Given the description of an element on the screen output the (x, y) to click on. 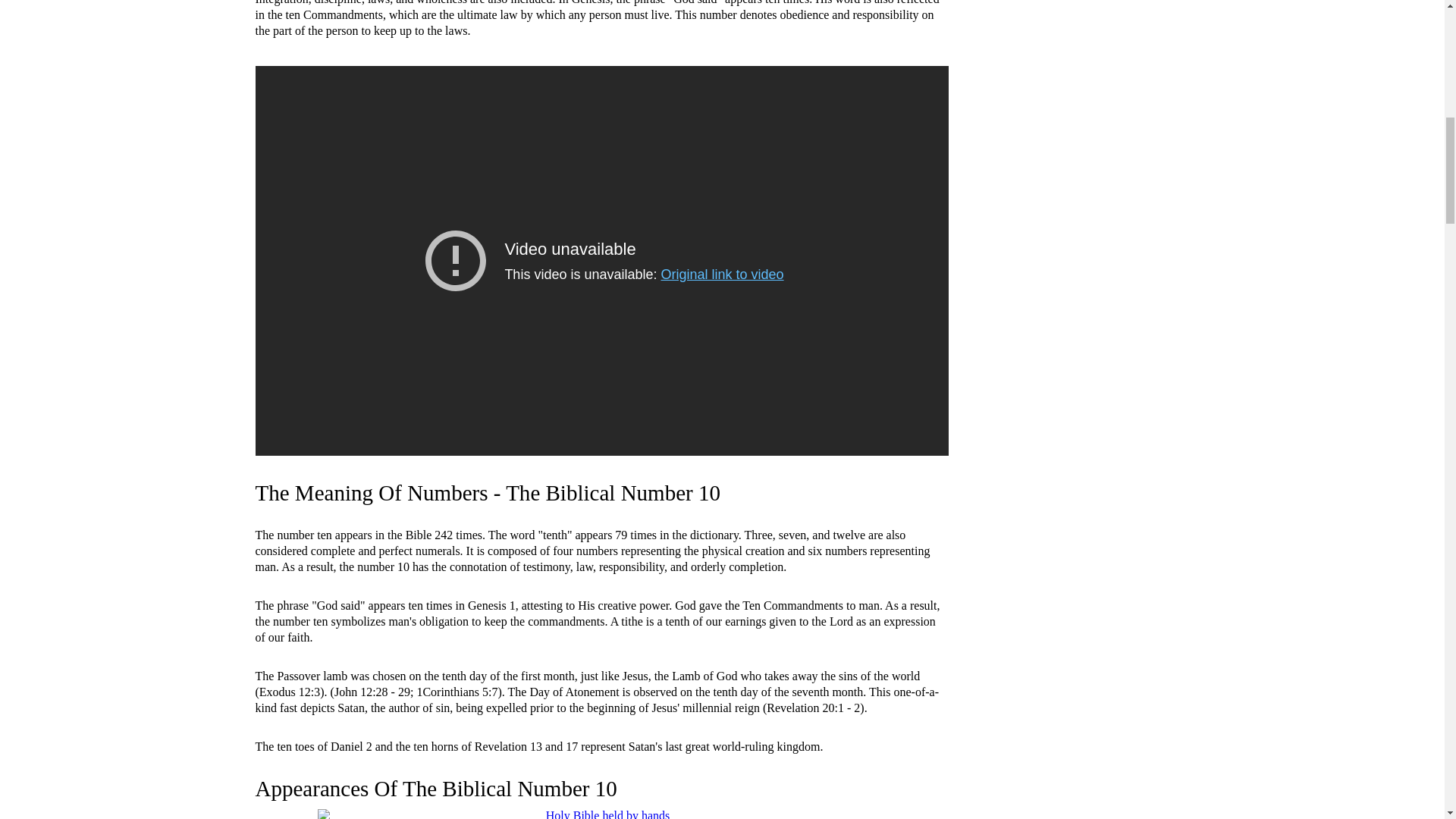
Appearances Of The Biblical Number 10 (434, 788)
The Meaning Of Numbers - The Biblical Number 10 (486, 492)
